Given the description of an element on the screen output the (x, y) to click on. 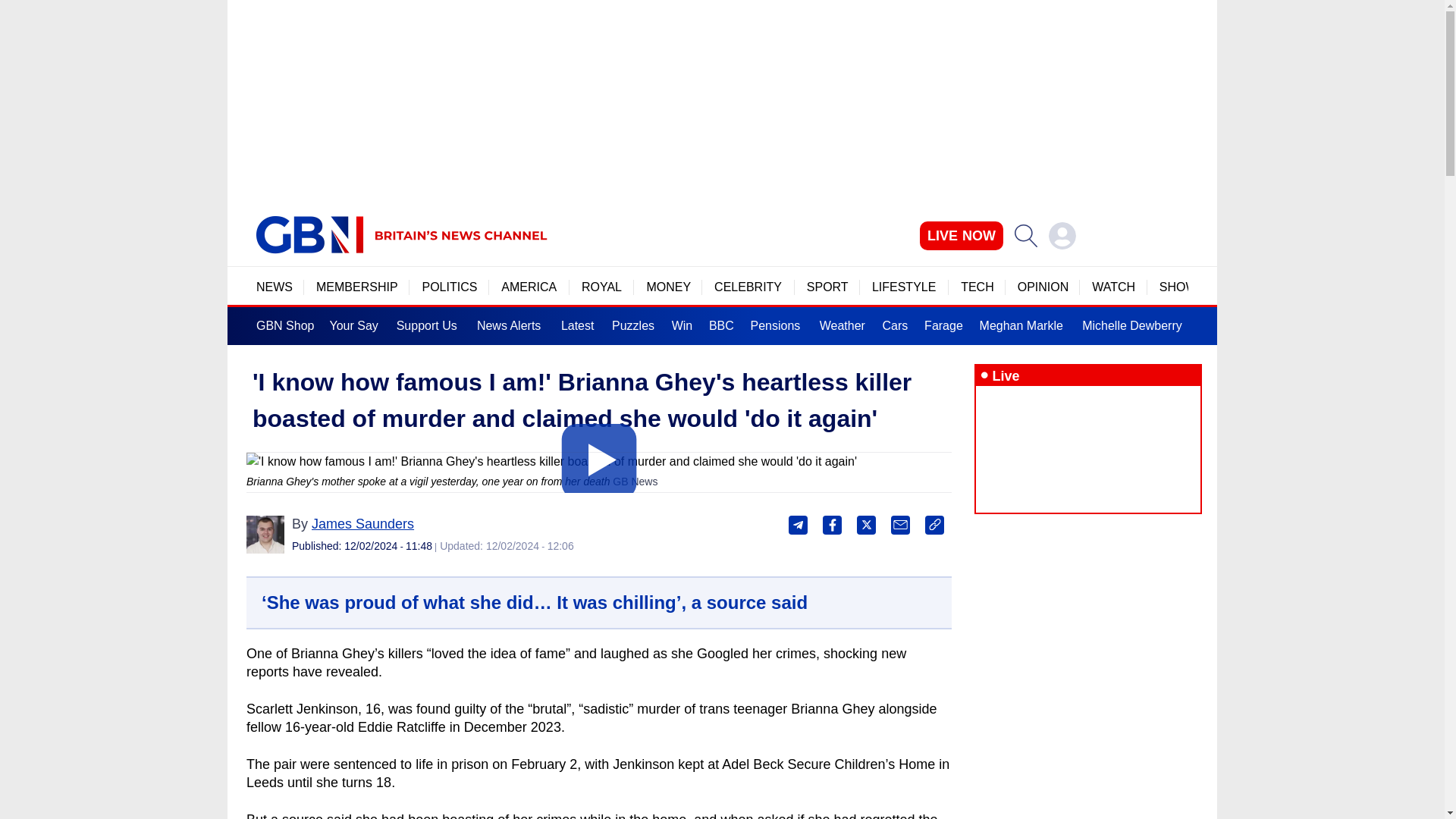
Copy this link to clipboard (933, 524)
AMERICA (528, 286)
James Saunders (264, 534)
MEMBERSHIP (356, 286)
LIVE (961, 235)
GBN Britain's News Channel (310, 235)
POLITICS (449, 286)
Search (1025, 235)
James Saunders (362, 523)
NEWS (274, 286)
